Given the description of an element on the screen output the (x, y) to click on. 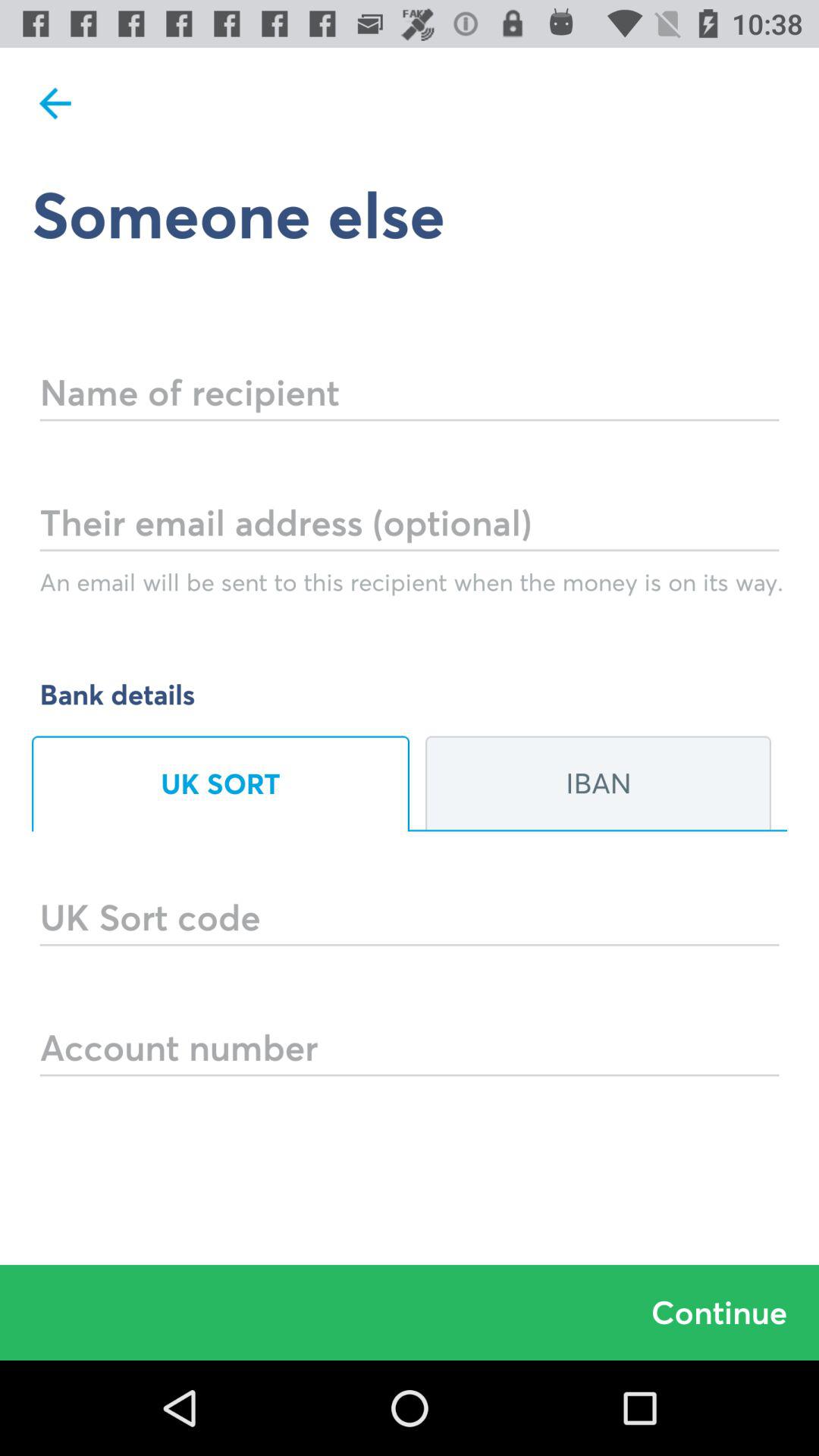
tap item at the top left corner (55, 103)
